Given the description of an element on the screen output the (x, y) to click on. 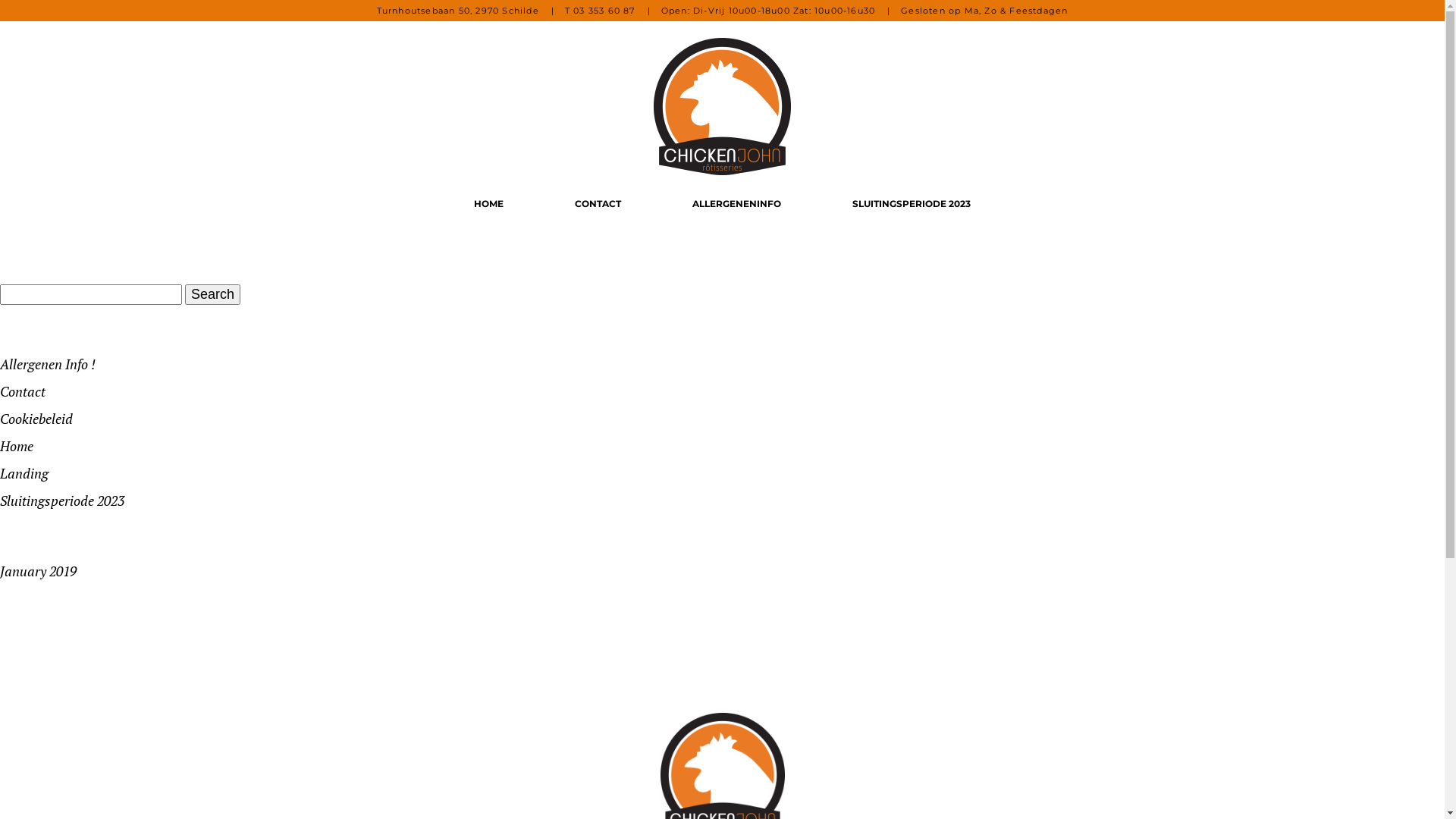
Search Element type: text (212, 294)
Landing Element type: text (24, 473)
SLUITINGSPERIODE 2023 Element type: text (911, 203)
Allergenen Info ! Element type: text (47, 363)
Chicken John Element type: hover (721, 106)
HOME Element type: text (488, 203)
Contact Element type: text (22, 391)
Cookiebeleid Element type: text (36, 418)
January 2019 Element type: text (38, 570)
Sluitingsperiode 2023 Element type: text (62, 500)
Uncategorized Element type: text (41, 641)
CONTACT Element type: text (597, 203)
Home Element type: text (16, 445)
ALLERGENENINFO Element type: text (736, 203)
